Given the description of an element on the screen output the (x, y) to click on. 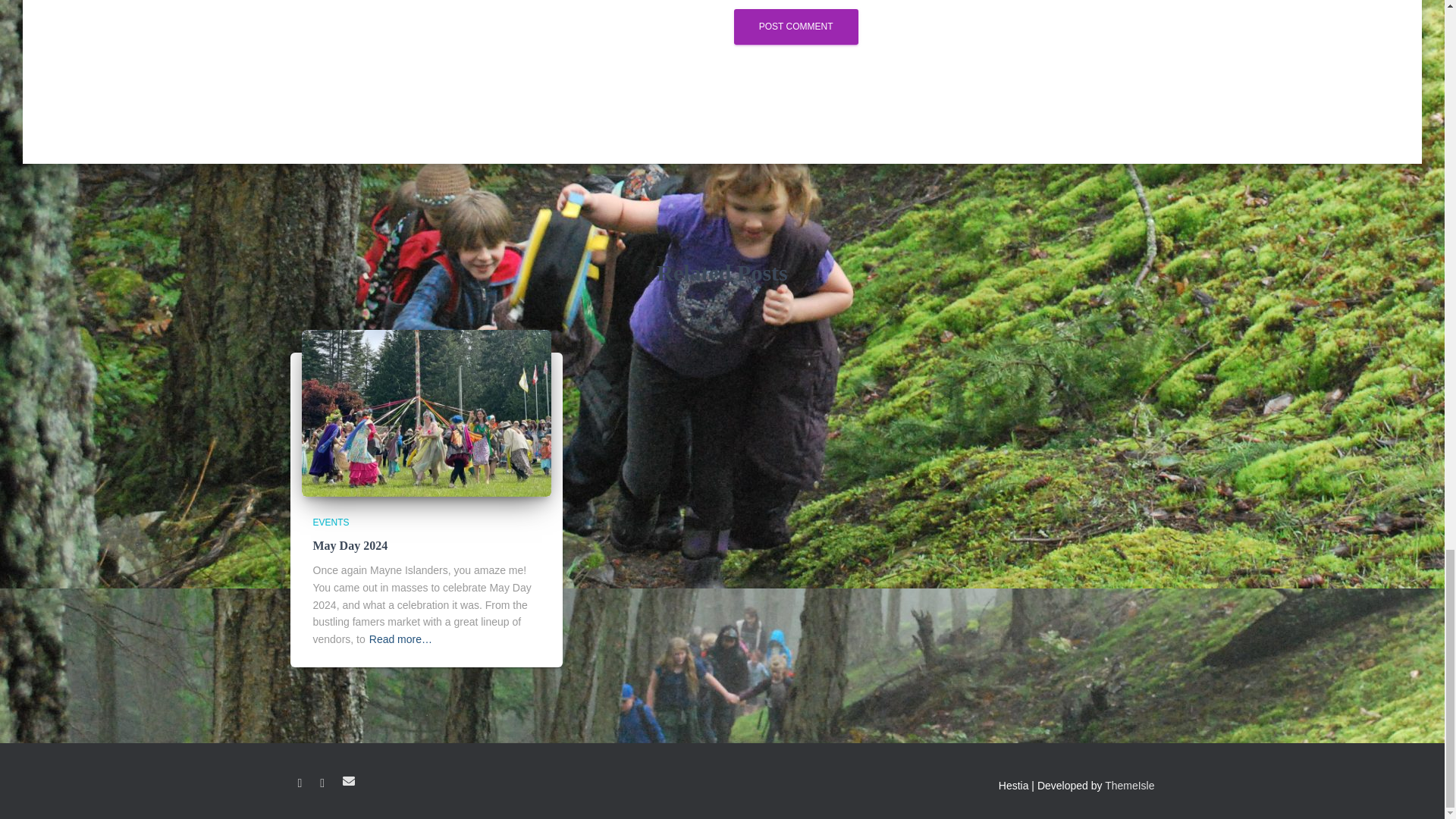
Post Comment (796, 27)
